Given the description of an element on the screen output the (x, y) to click on. 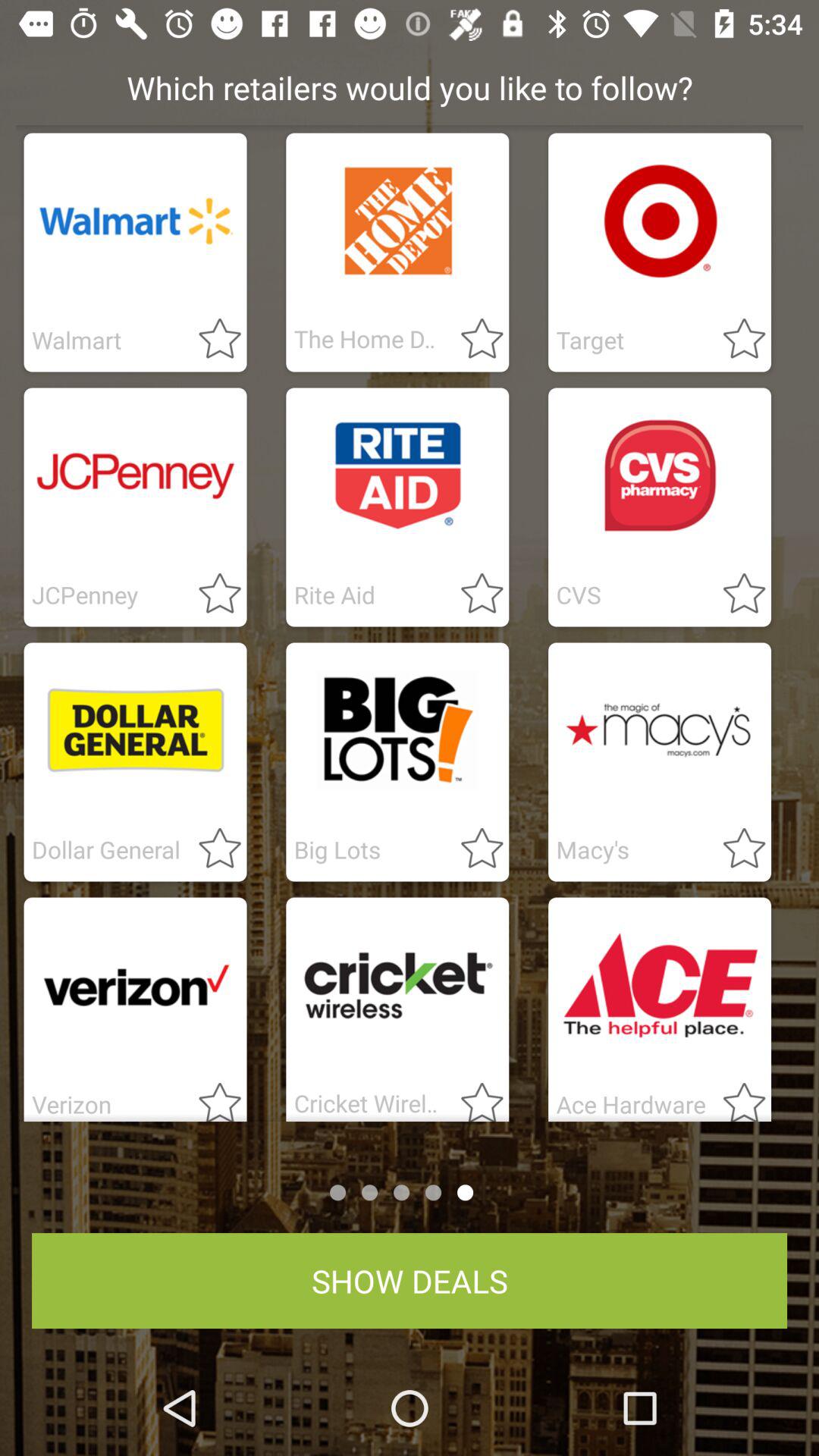
swipe to show deals (409, 1280)
